Given the description of an element on the screen output the (x, y) to click on. 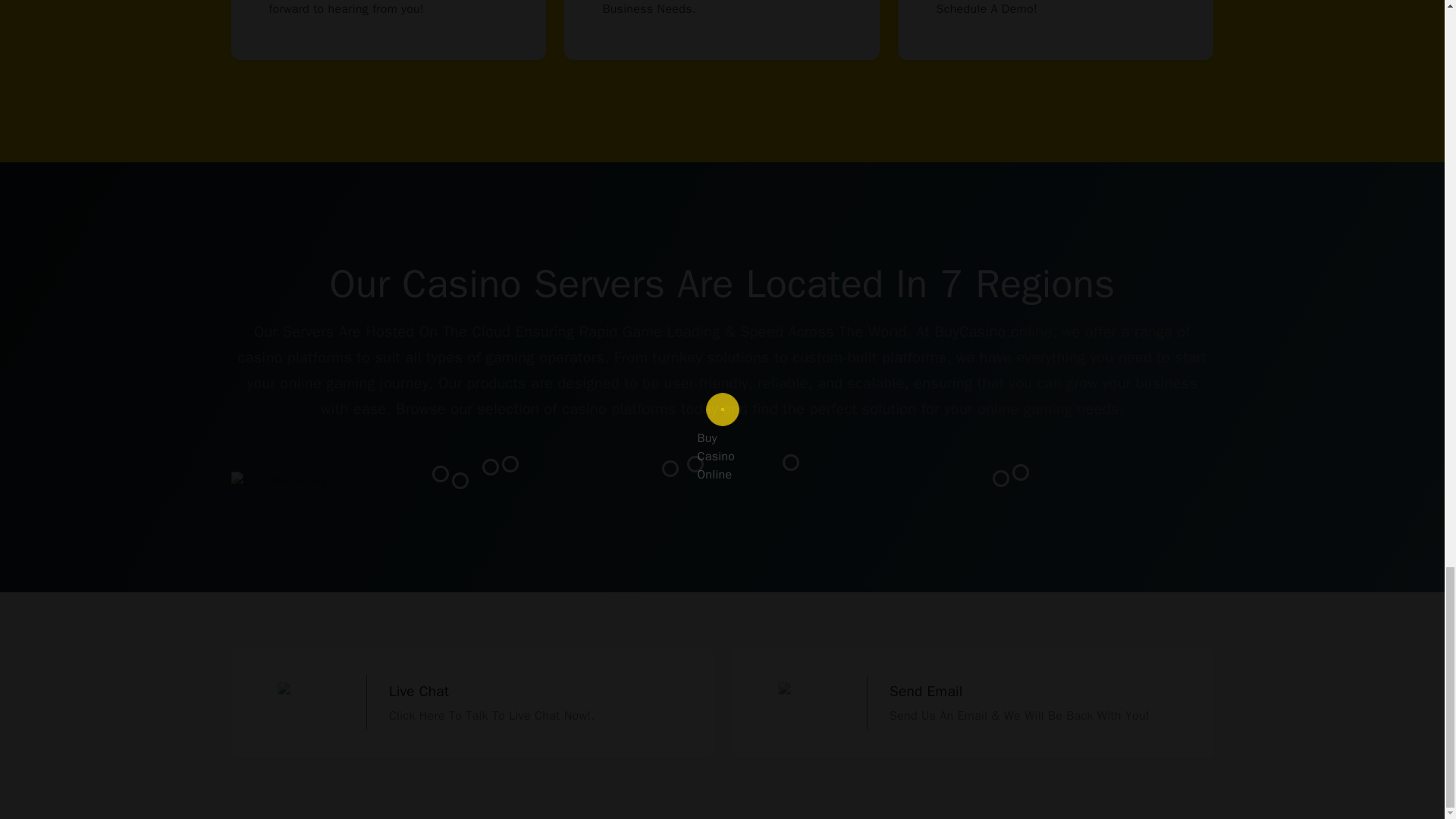
New York (490, 466)
London (695, 463)
Cancun (440, 474)
Send Email (971, 703)
Moskow (791, 462)
Live Chat (471, 703)
Portugal (670, 468)
Montreal (510, 463)
Singapore (1000, 478)
Hong Kong (1020, 472)
Peru (459, 480)
